Given the description of an element on the screen output the (x, y) to click on. 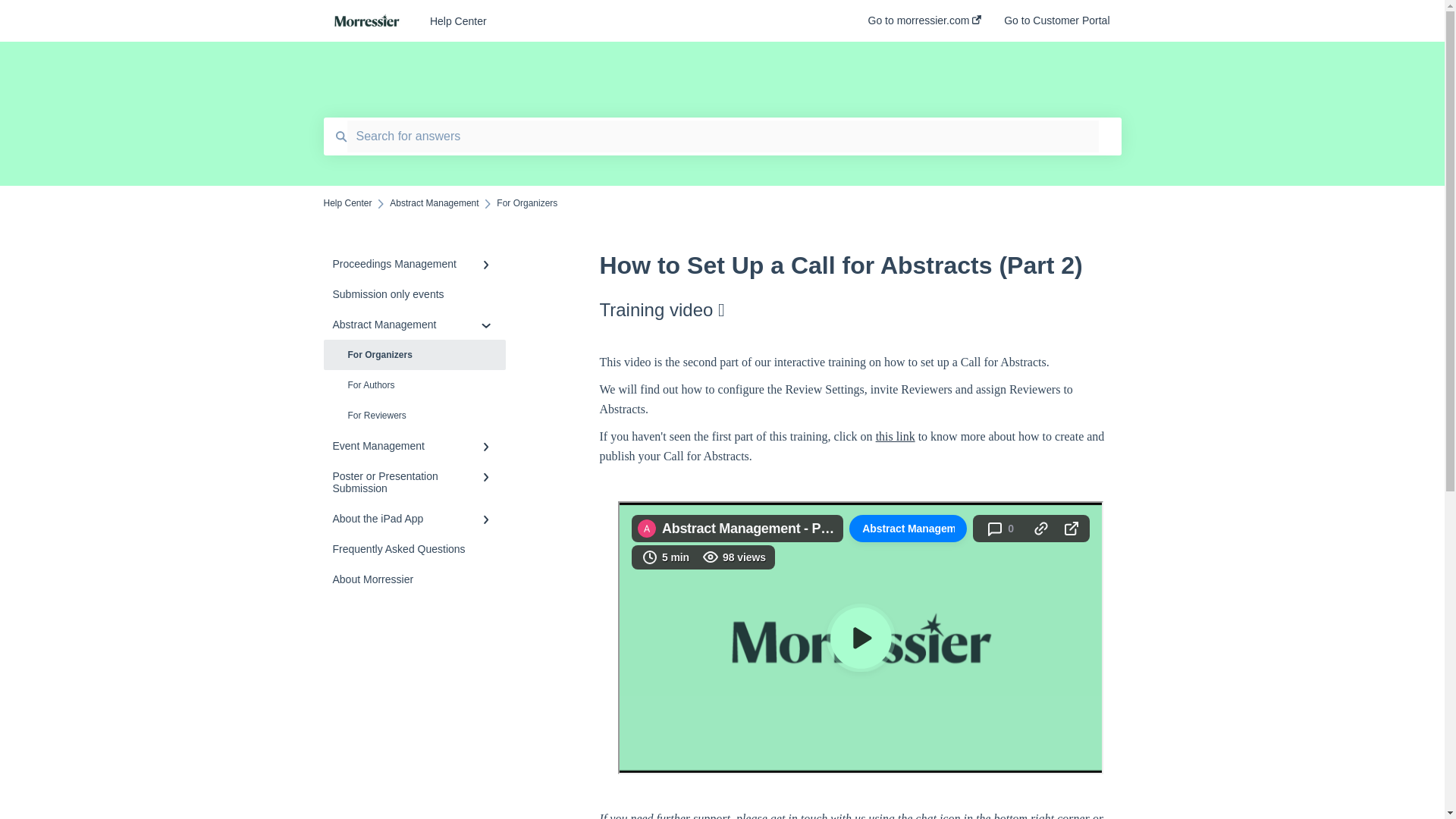
For Authors (414, 385)
Proceedings Management (414, 263)
Submission only events (414, 294)
For Reviewers (414, 415)
Help Center (347, 203)
Abstract Management (434, 203)
Go to Customer Portal (1056, 25)
For Organizers (414, 354)
Abstract Management (414, 324)
Go to morressier.com (924, 25)
